Given the description of an element on the screen output the (x, y) to click on. 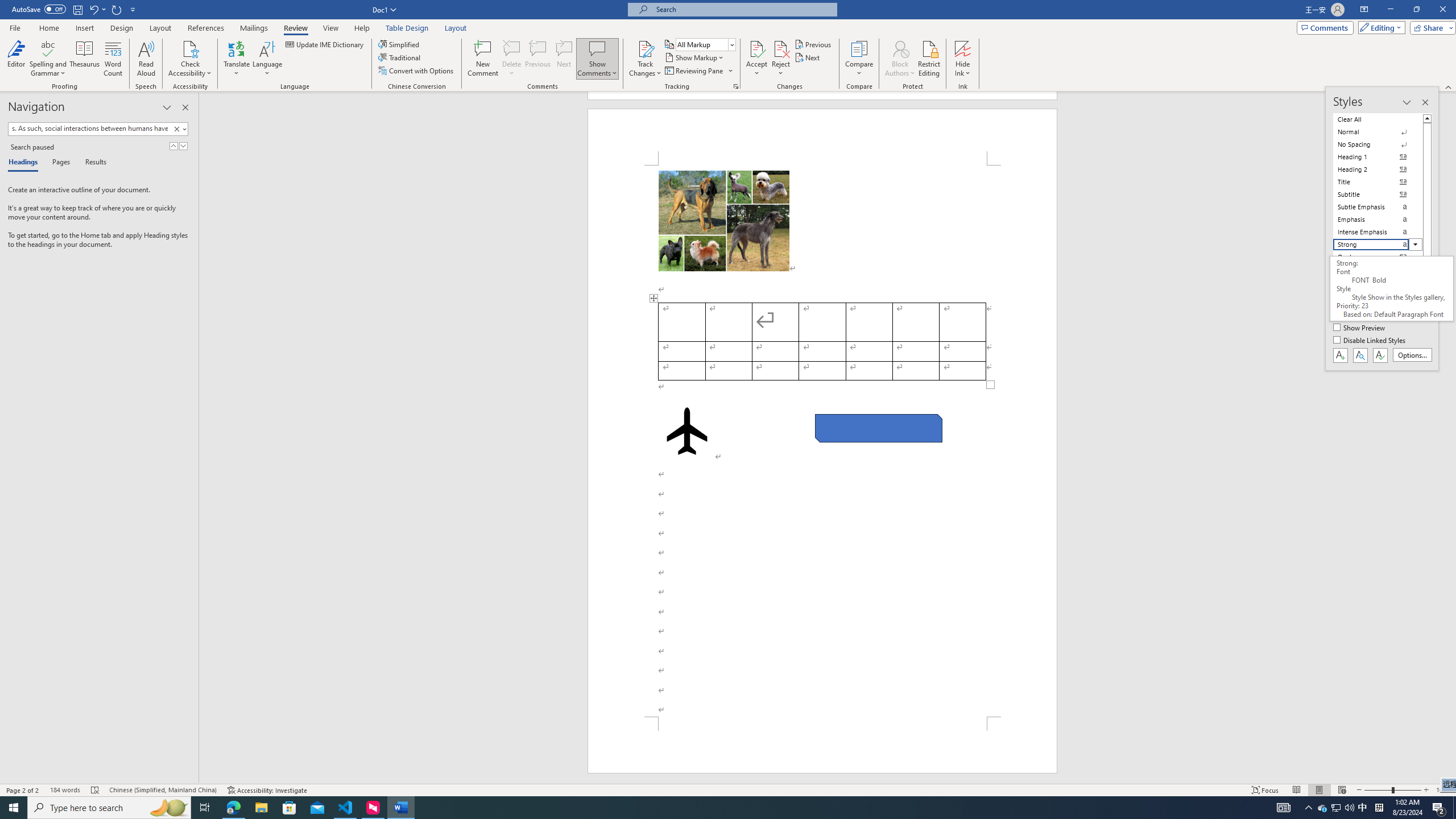
Check Accessibility (189, 48)
Reject and Move to Next (780, 48)
Clear All (1377, 119)
No Spacing (1377, 144)
Compare (859, 58)
Word Count (113, 58)
Read Aloud (145, 58)
Block Authors (900, 58)
Delete (511, 58)
Accept (756, 58)
